Given the description of an element on the screen output the (x, y) to click on. 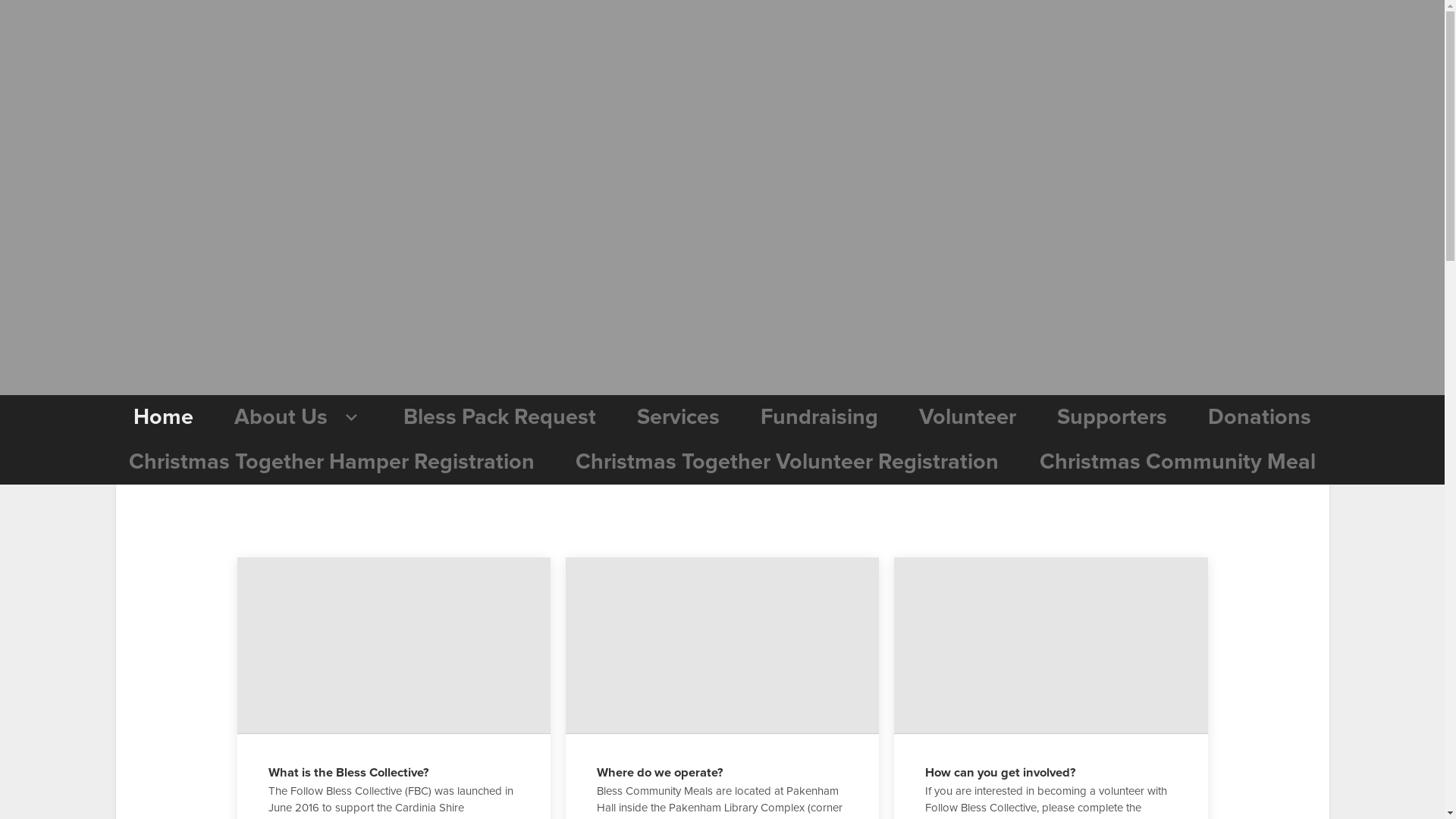
Home Element type: text (163, 417)
Donations Element type: text (1259, 417)
Christmas Together Hamper Registration Element type: text (331, 461)
About Us Element type: text (298, 417)
Christmas Together Volunteer Registration Element type: text (786, 461)
Fundraising Element type: text (819, 417)
Bless Pack Request Element type: text (499, 417)
Volunteer Element type: text (967, 417)
Christmas Community Meal Element type: text (1177, 461)
Supporters Element type: text (1112, 417)
Services Element type: text (678, 417)
